Given the description of an element on the screen output the (x, y) to click on. 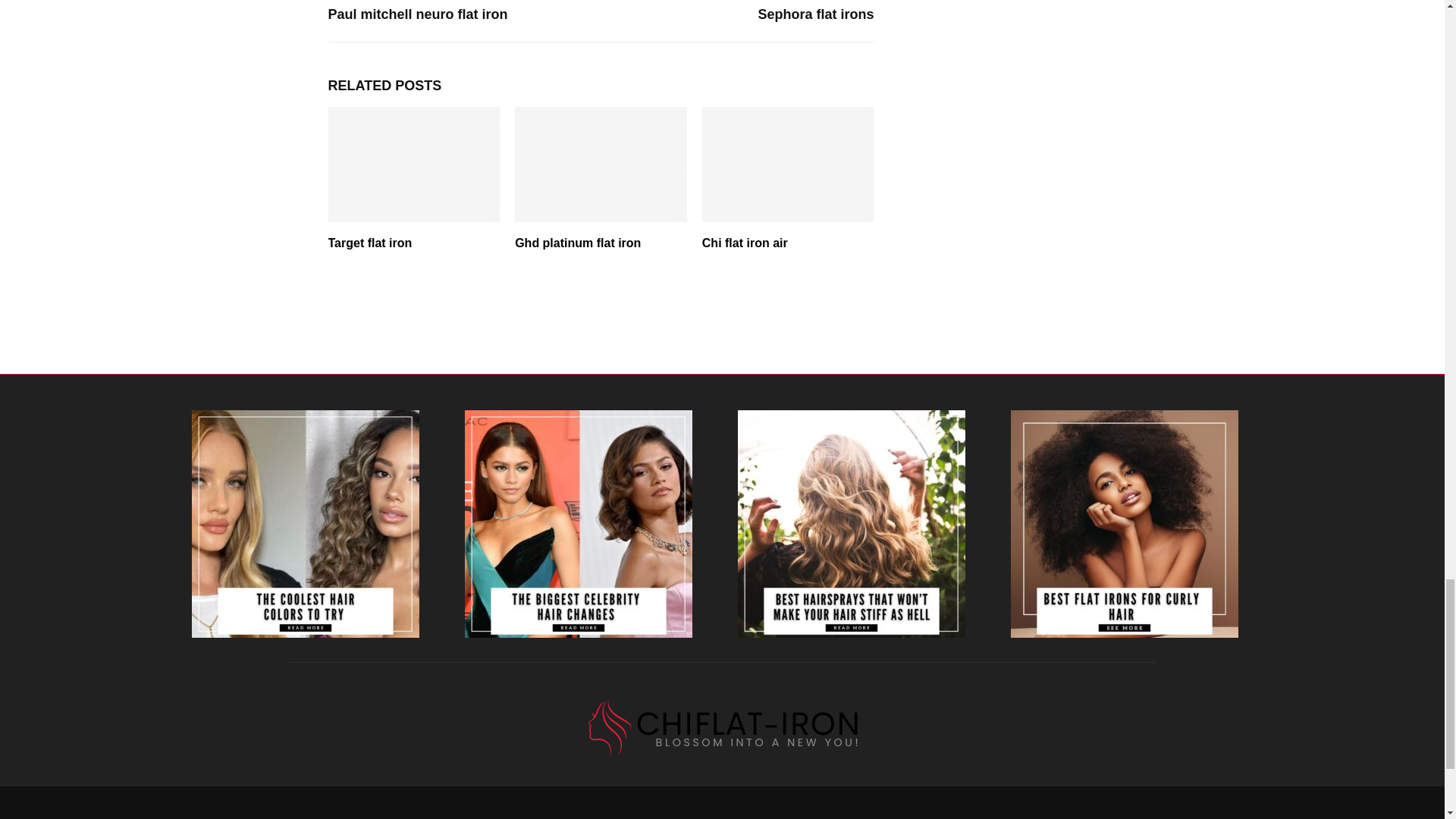
Sephora flat irons (815, 14)
Target flat iron (369, 242)
Paul mitchell neuro flat iron (416, 14)
Ghd platinum flat iron (577, 242)
Chi flat iron air (744, 242)
